Given the description of an element on the screen output the (x, y) to click on. 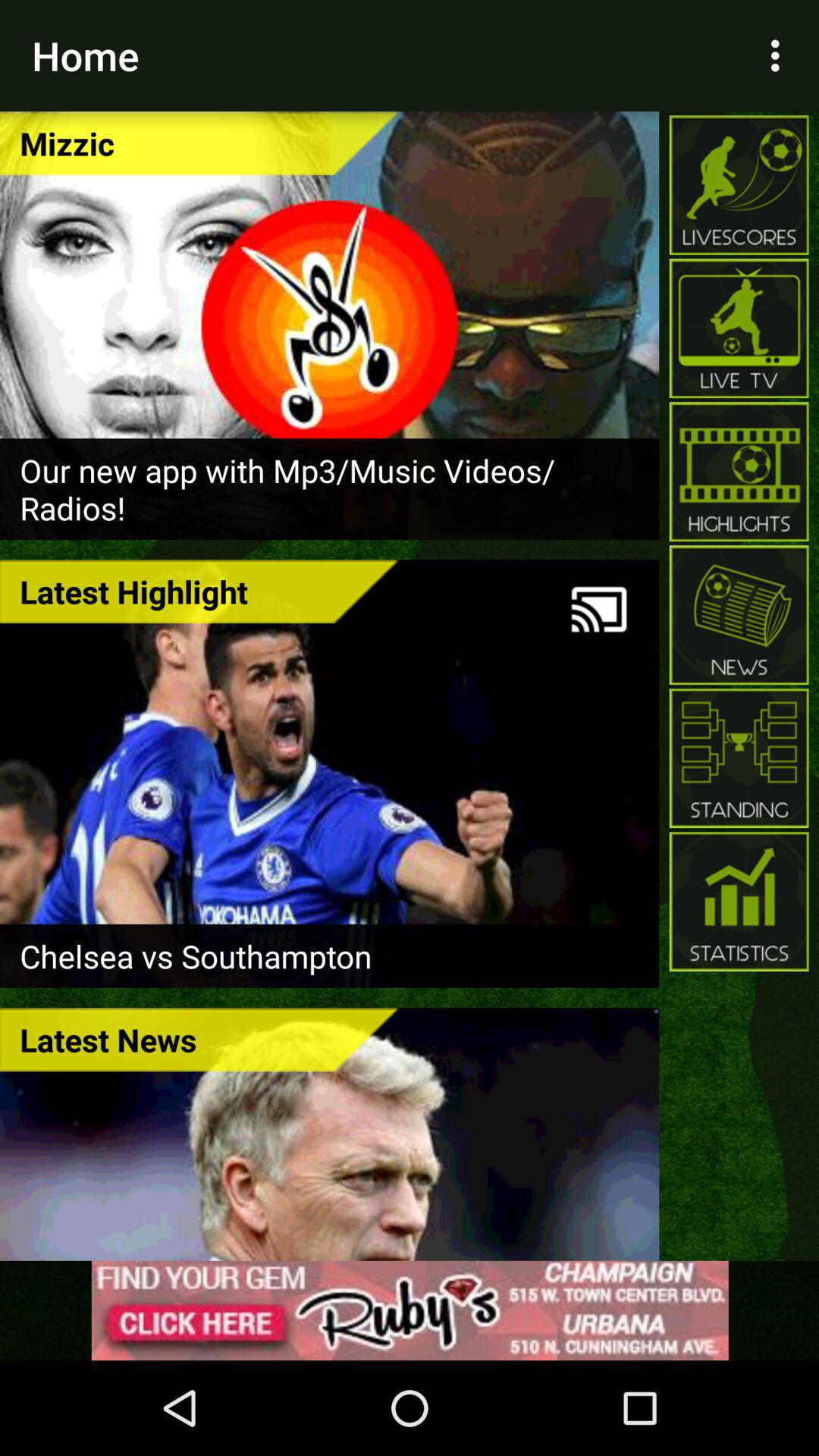
adds pop up button (409, 1310)
